Given the description of an element on the screen output the (x, y) to click on. 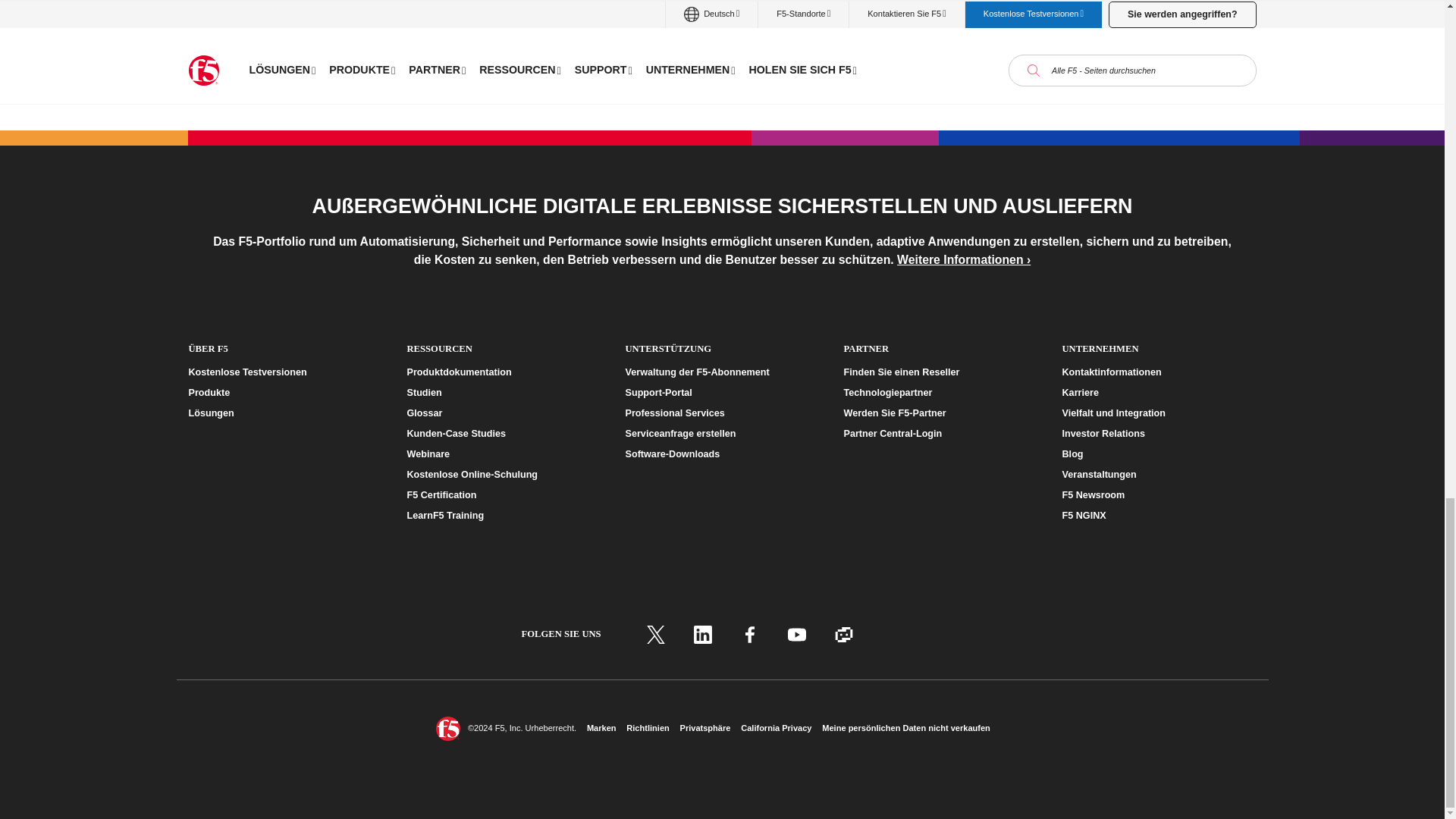
Verwaltung der F5-Abonnement (721, 372)
Glossar (502, 413)
Serviceanfrage erstellen (721, 433)
Support-Portal (721, 392)
Studien (502, 392)
Kunden-Case Studies (502, 433)
Webinare (502, 454)
Kostenlose Online-Schulung (502, 474)
Produkte (284, 392)
F5 Certification (502, 495)
Kostenlose Testversionen (284, 372)
LearnF5 Training (502, 515)
Professional Services (721, 413)
Produktdokumentation (502, 372)
